Given the description of an element on the screen output the (x, y) to click on. 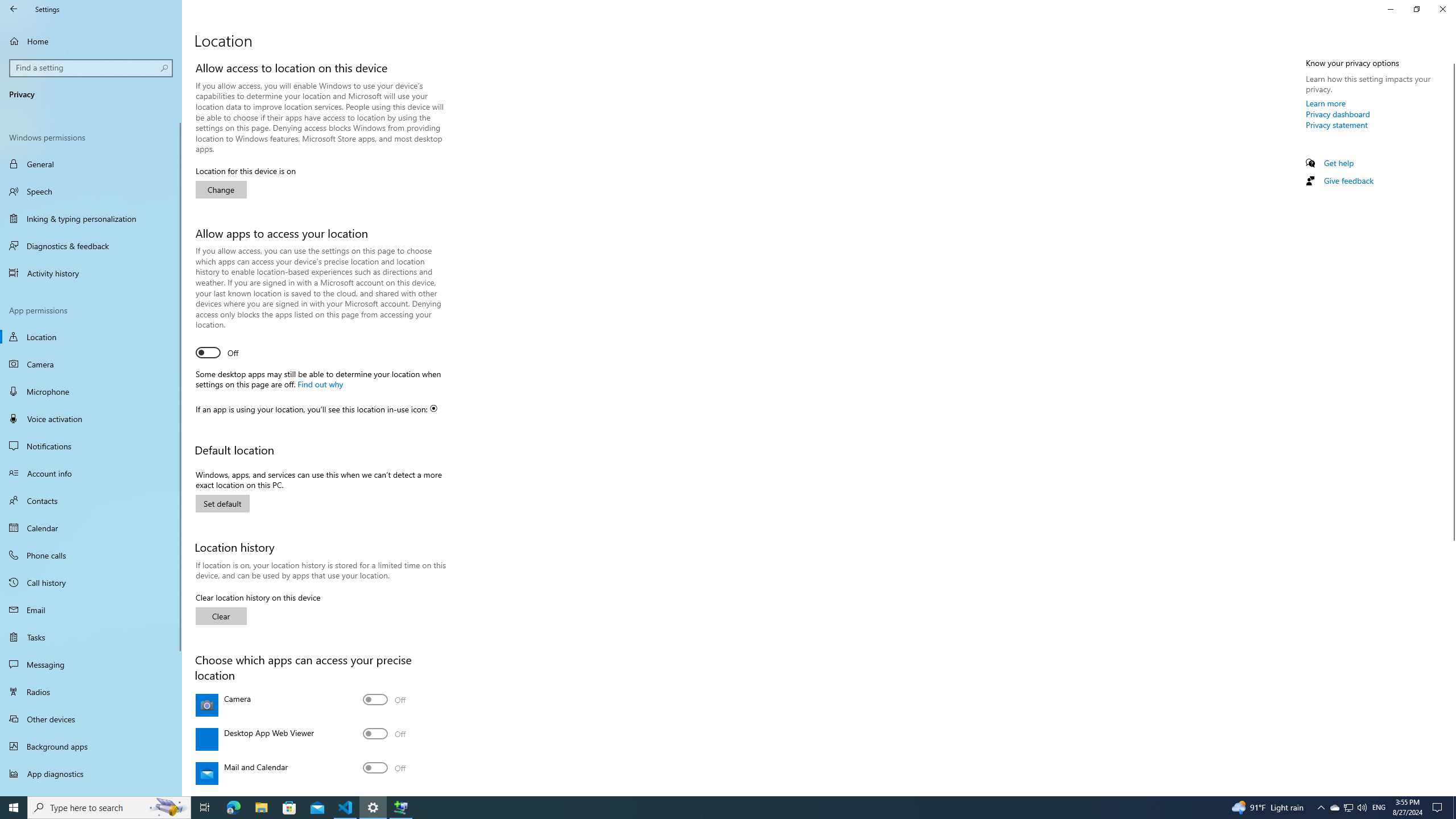
Maps (384, 794)
Extensible Wizards Host Process - 1 running window (400, 807)
Give feedback (1348, 180)
Speech (91, 190)
Minimize Settings (1390, 9)
Camera (91, 363)
Other devices (91, 718)
Email (91, 609)
